Given the description of an element on the screen output the (x, y) to click on. 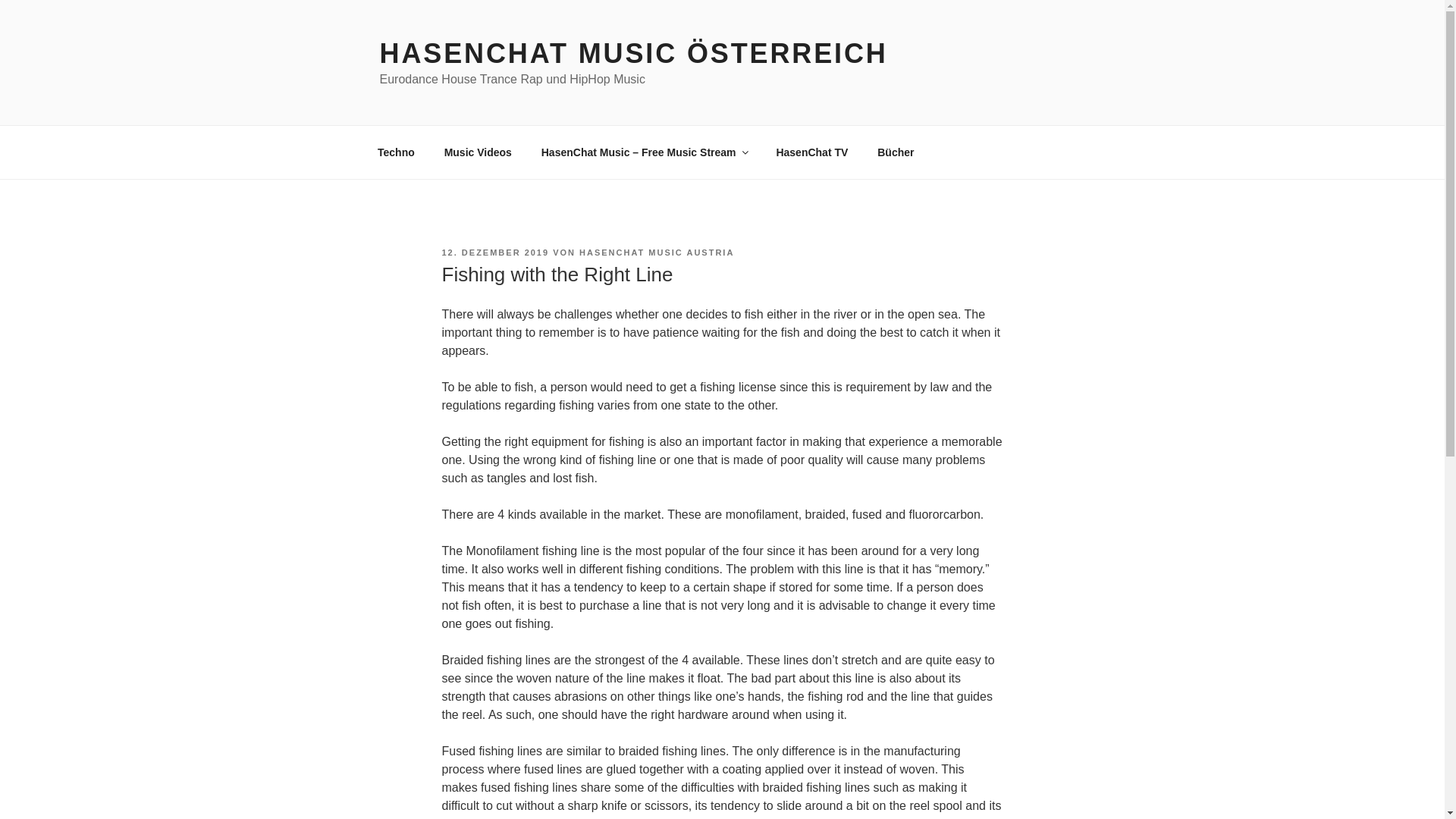
12. DEZEMBER 2019 (494, 252)
Techno (396, 151)
HASENCHAT MUSIC AUSTRIA (656, 252)
Music Videos (477, 151)
HasenChat TV (811, 151)
